Given the description of an element on the screen output the (x, y) to click on. 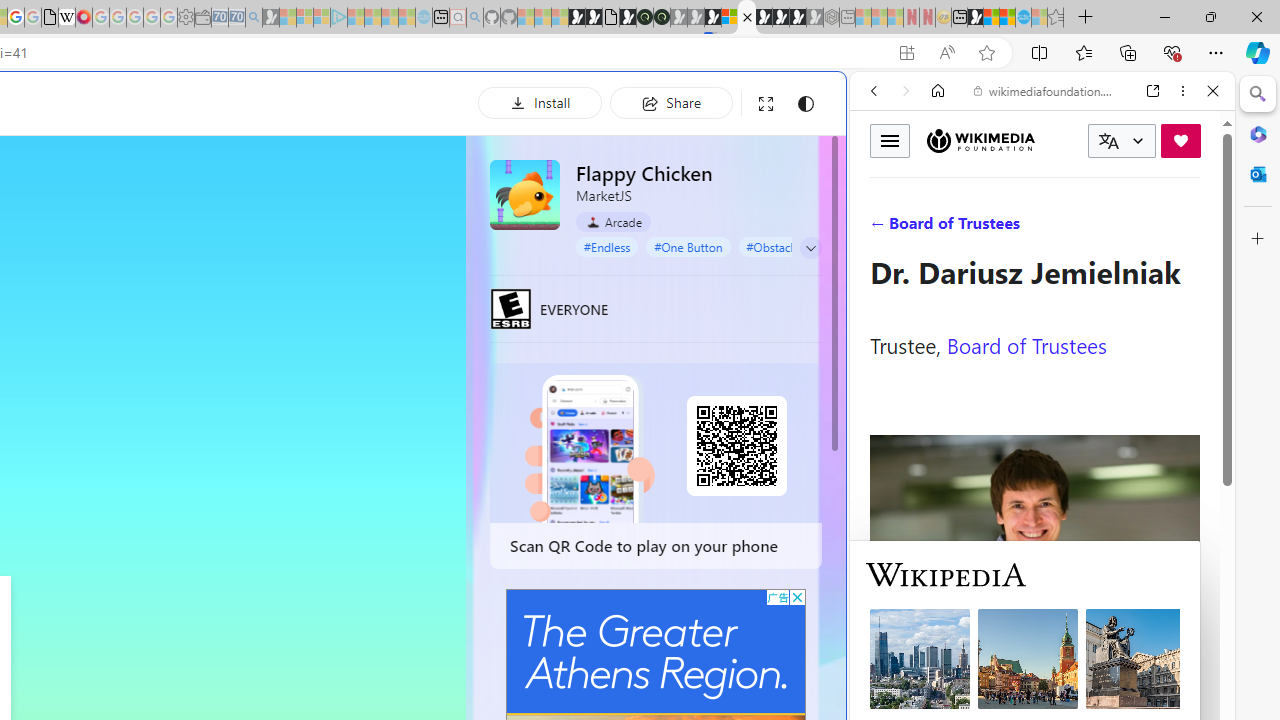
Home | Sky Blue Bikes - Sky Blue Bikes (687, 426)
MediaWiki (83, 17)
Bing Real Estate - Home sales and rental listings - Sleeping (253, 17)
World - MSN (991, 17)
Wikimedia Foundation (980, 141)
Board of Trustees (1026, 344)
